Given the description of an element on the screen output the (x, y) to click on. 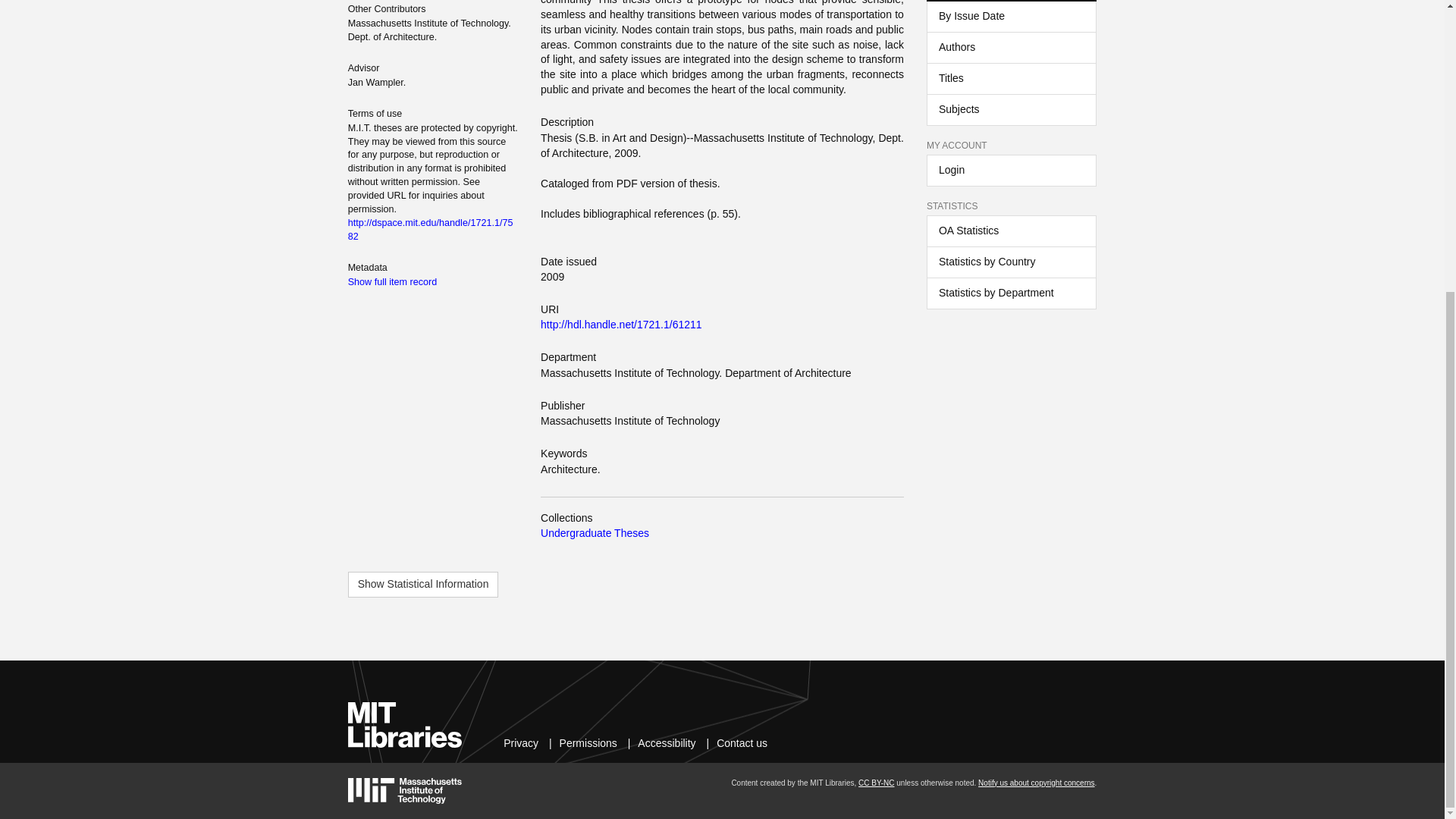
Show full item record (392, 281)
By Issue Date (1011, 16)
Subjects (1011, 110)
Permissions (588, 743)
Titles (1011, 79)
Show Statistical Information (423, 584)
Privacy (520, 743)
Statistics by Country (1011, 262)
Login (1011, 170)
Undergraduate Theses (594, 532)
Authors (1011, 47)
OA Statistics (1011, 231)
Accessibility (666, 743)
Statistics by Department (1011, 293)
